Given the description of an element on the screen output the (x, y) to click on. 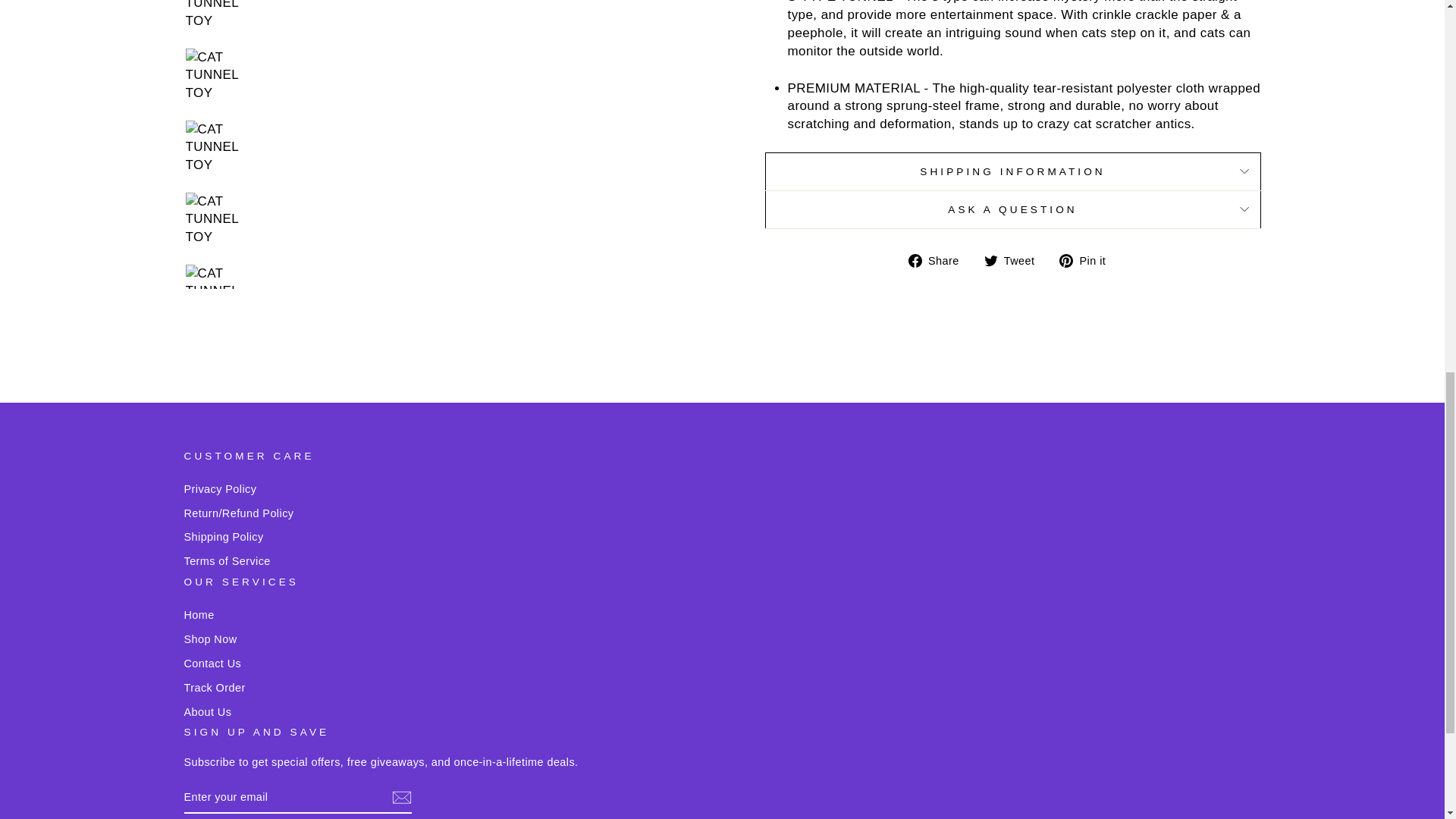
Pin on Pinterest (1087, 260)
Tweet on Twitter (1015, 260)
Share on Facebook (939, 260)
